Given the description of an element on the screen output the (x, y) to click on. 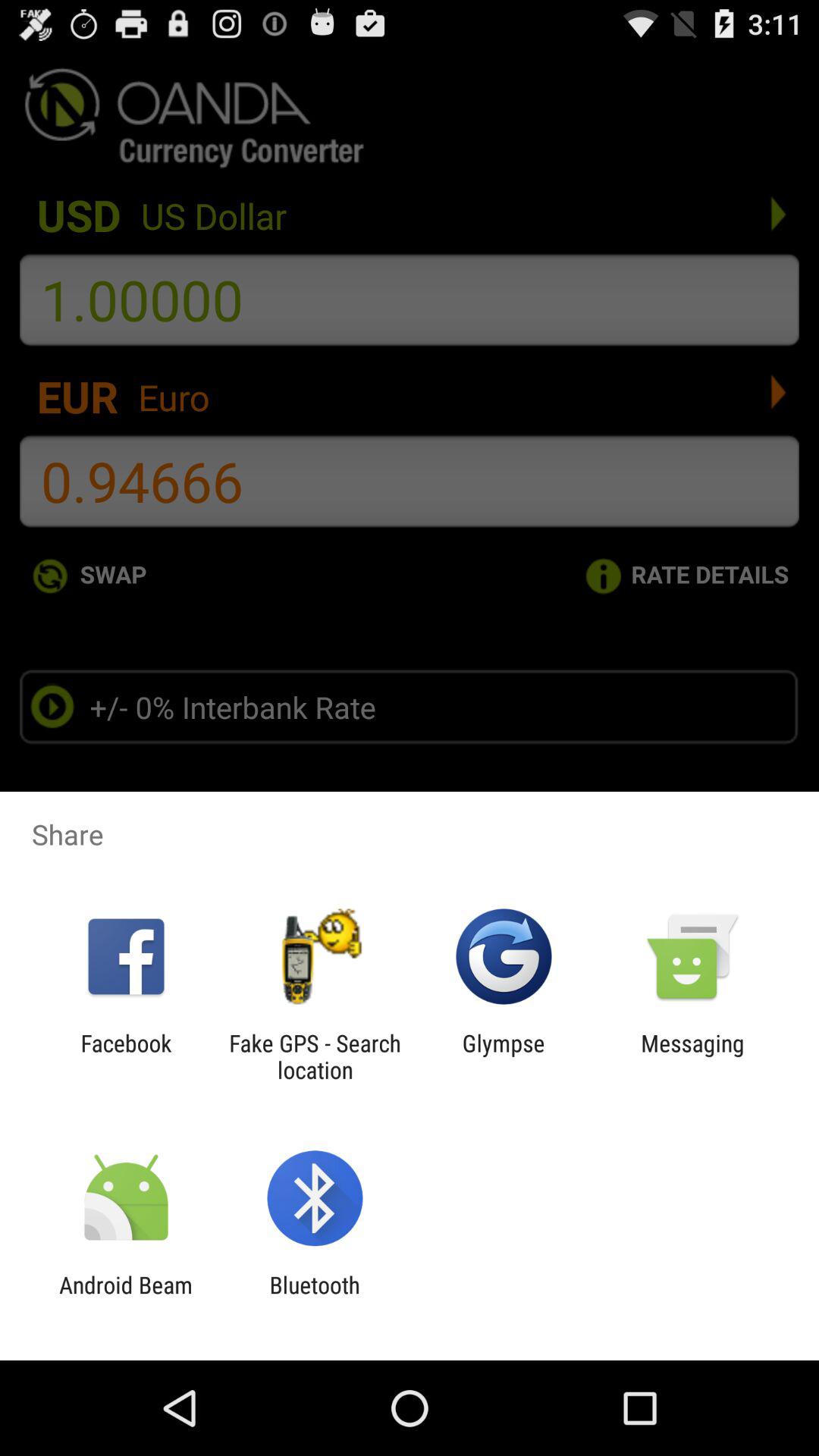
click the icon next to bluetooth item (125, 1298)
